Given the description of an element on the screen output the (x, y) to click on. 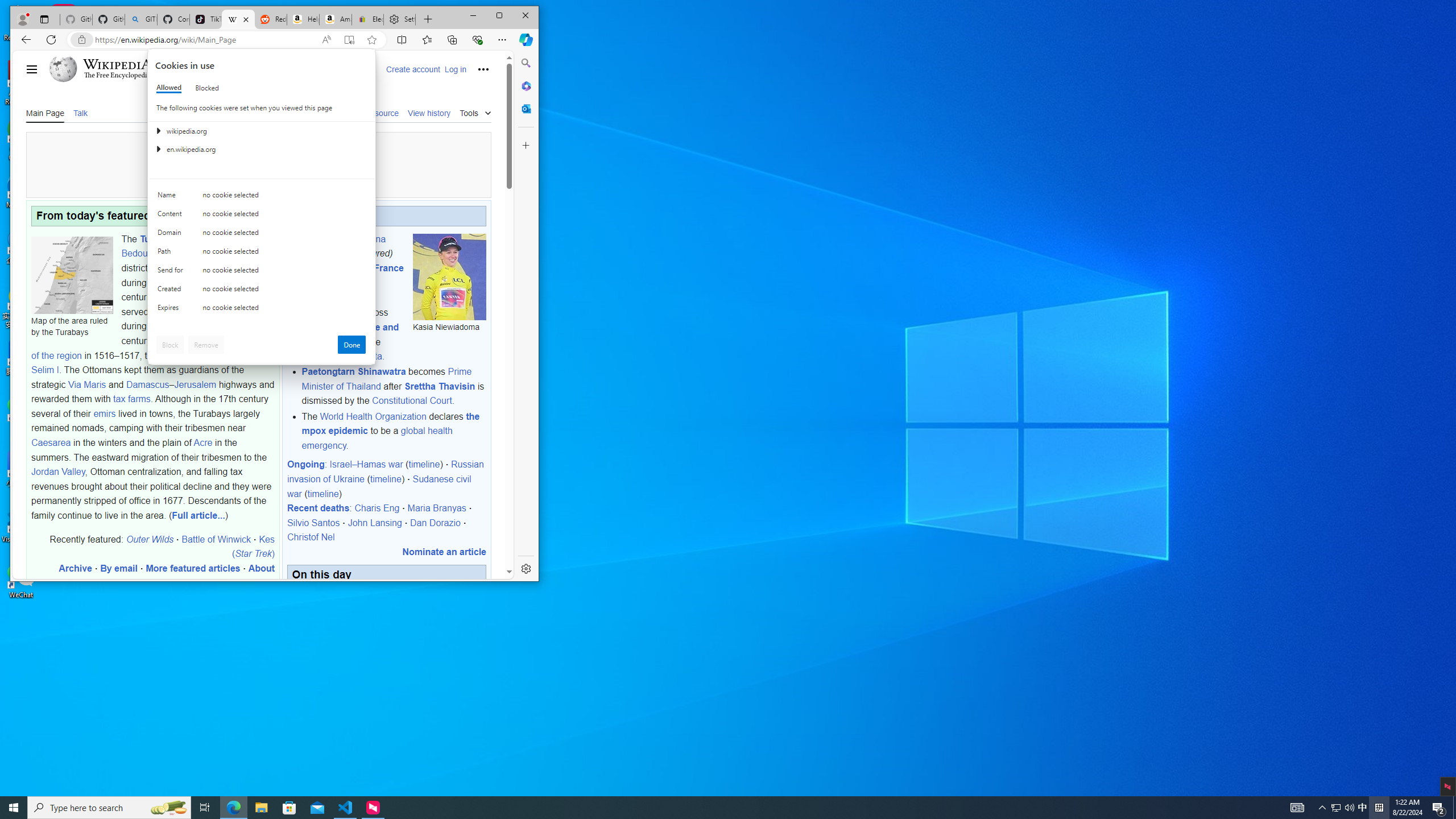
Class: c0153 c0157 c0154 (261, 197)
Start (13, 807)
Content (172, 216)
no cookie selected (284, 310)
Visual Studio Code - 1 running window (345, 807)
Class: c0153 c0157 (261, 309)
Name (172, 197)
Microsoft Store (289, 807)
Blocked (206, 87)
Search highlights icon opens search home window (167, 807)
Type here to search (108, 807)
Allowed (169, 87)
Domain (172, 235)
Path (172, 253)
User Promoted Notification Area (1342, 807)
